Given the description of an element on the screen output the (x, y) to click on. 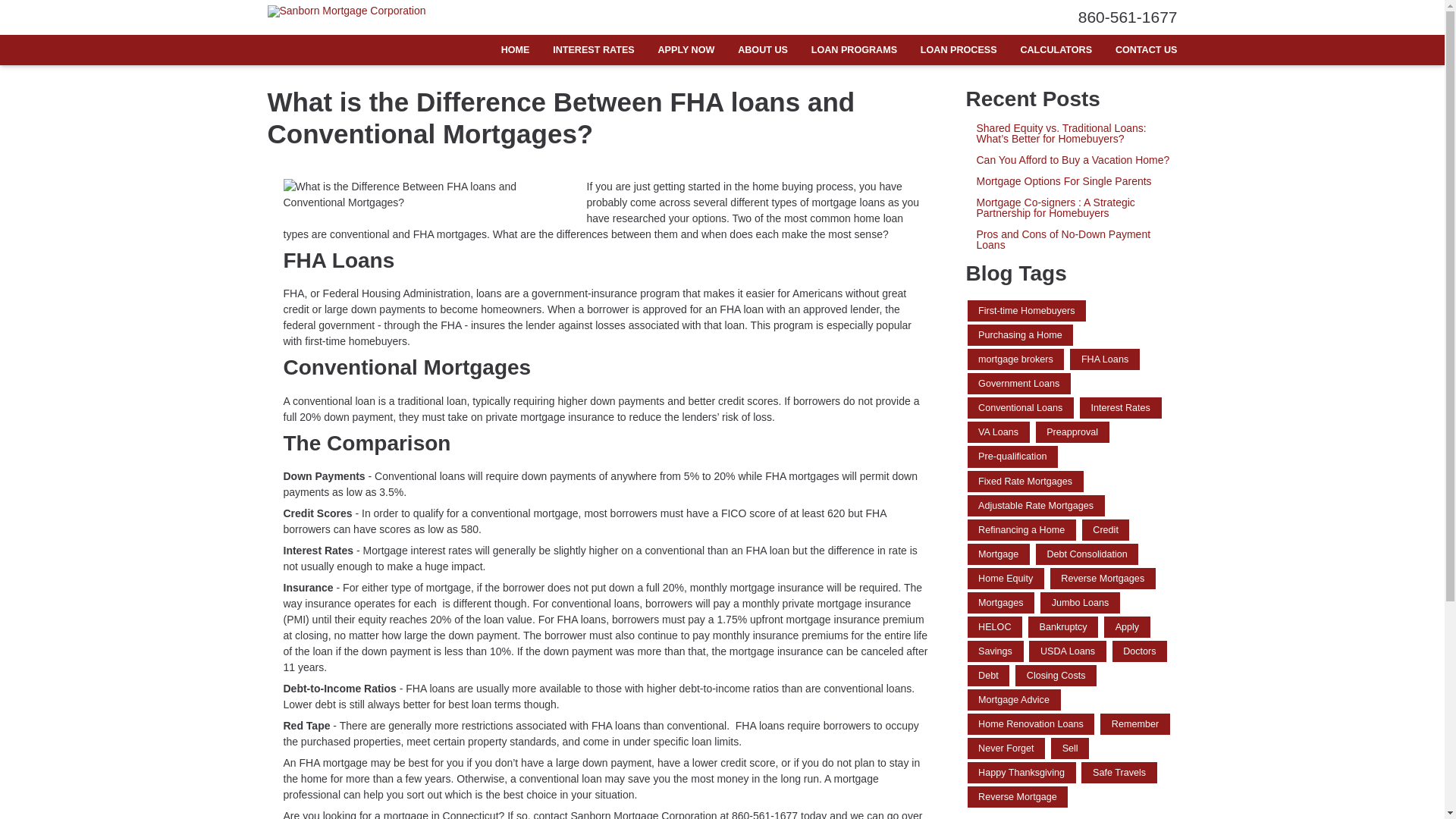
Preapproval (1072, 432)
Purchasing a Home (1021, 334)
Credit (1105, 529)
LOAN PROCESS (958, 50)
Can You Afford to Buy a Vacation Home? (1071, 159)
INTEREST RATES (593, 50)
Refinancing a Home (1021, 529)
First-time Homebuyers (1027, 310)
CALCULATORS (1056, 50)
Home Equity (1005, 578)
FHA Loans (1105, 359)
Conventional Loans (1021, 407)
mortgage brokers (1016, 359)
CONTACT US (1139, 50)
Pre-qualification (1013, 455)
